Given the description of an element on the screen output the (x, y) to click on. 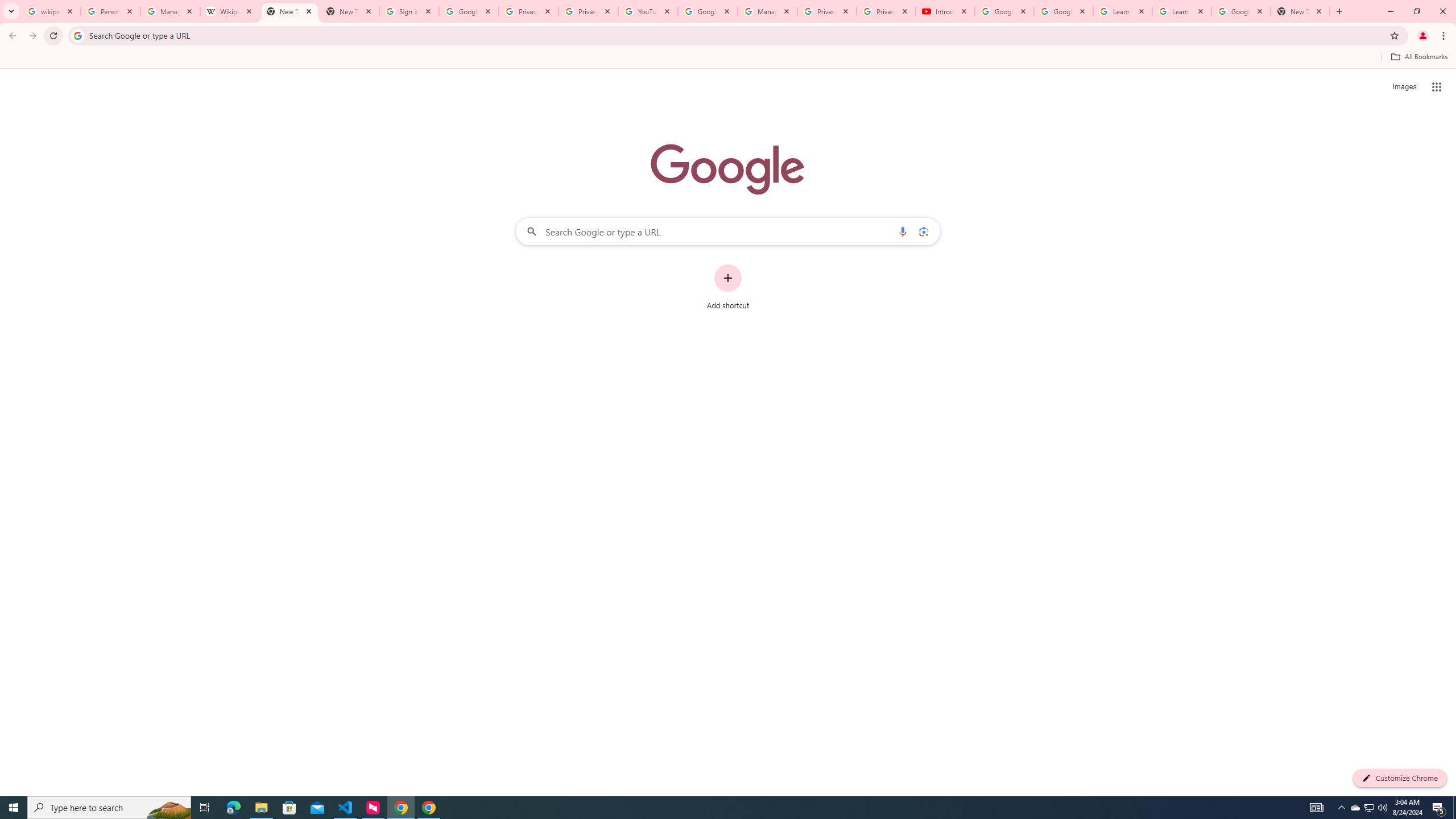
New Tab (289, 11)
Google Account (1241, 11)
Google Drive: Sign-in (468, 11)
Manage your Location History - Google Search Help (170, 11)
